Given the description of an element on the screen output the (x, y) to click on. 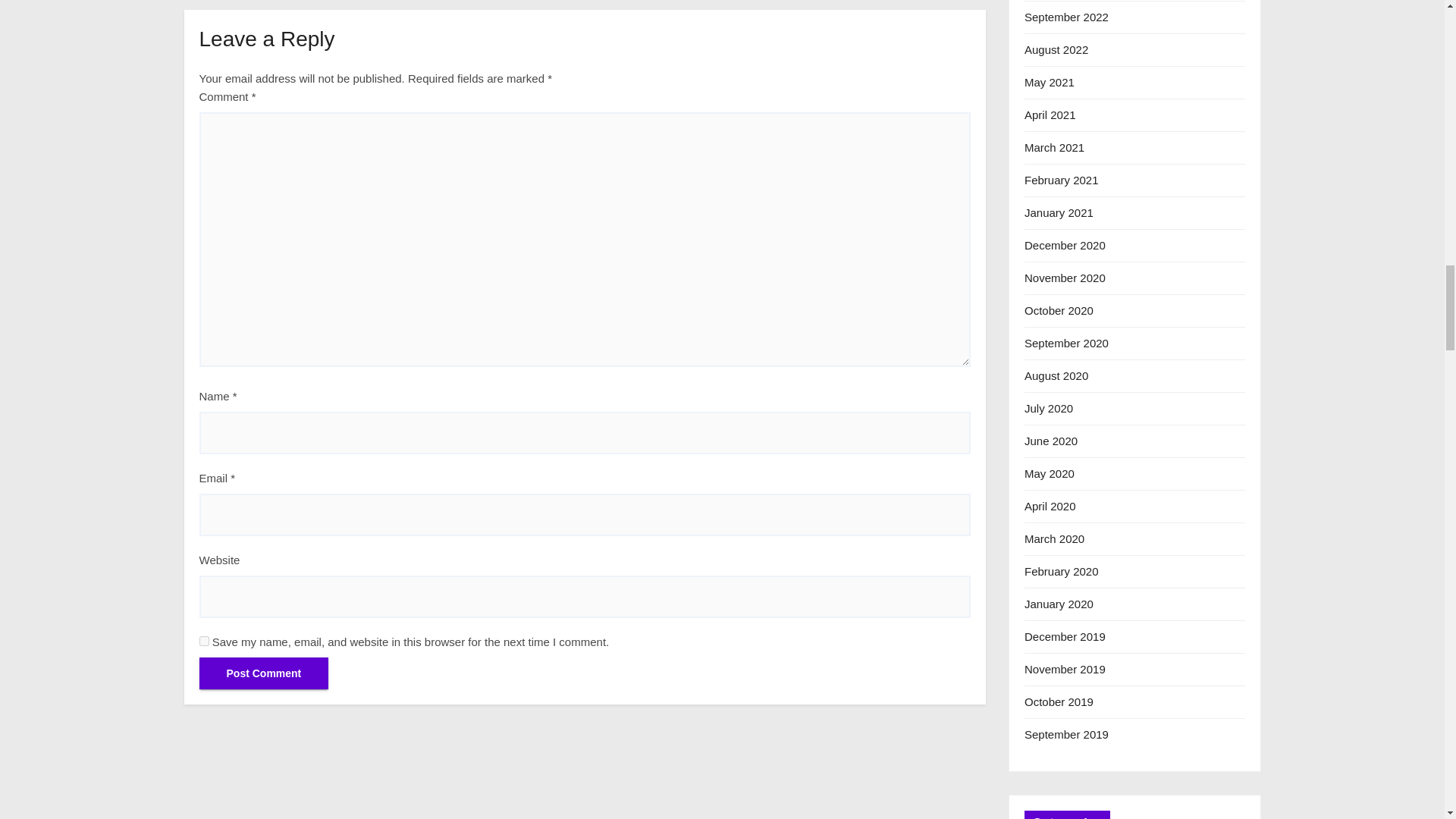
Post Comment (263, 673)
yes (203, 641)
